Given the description of an element on the screen output the (x, y) to click on. 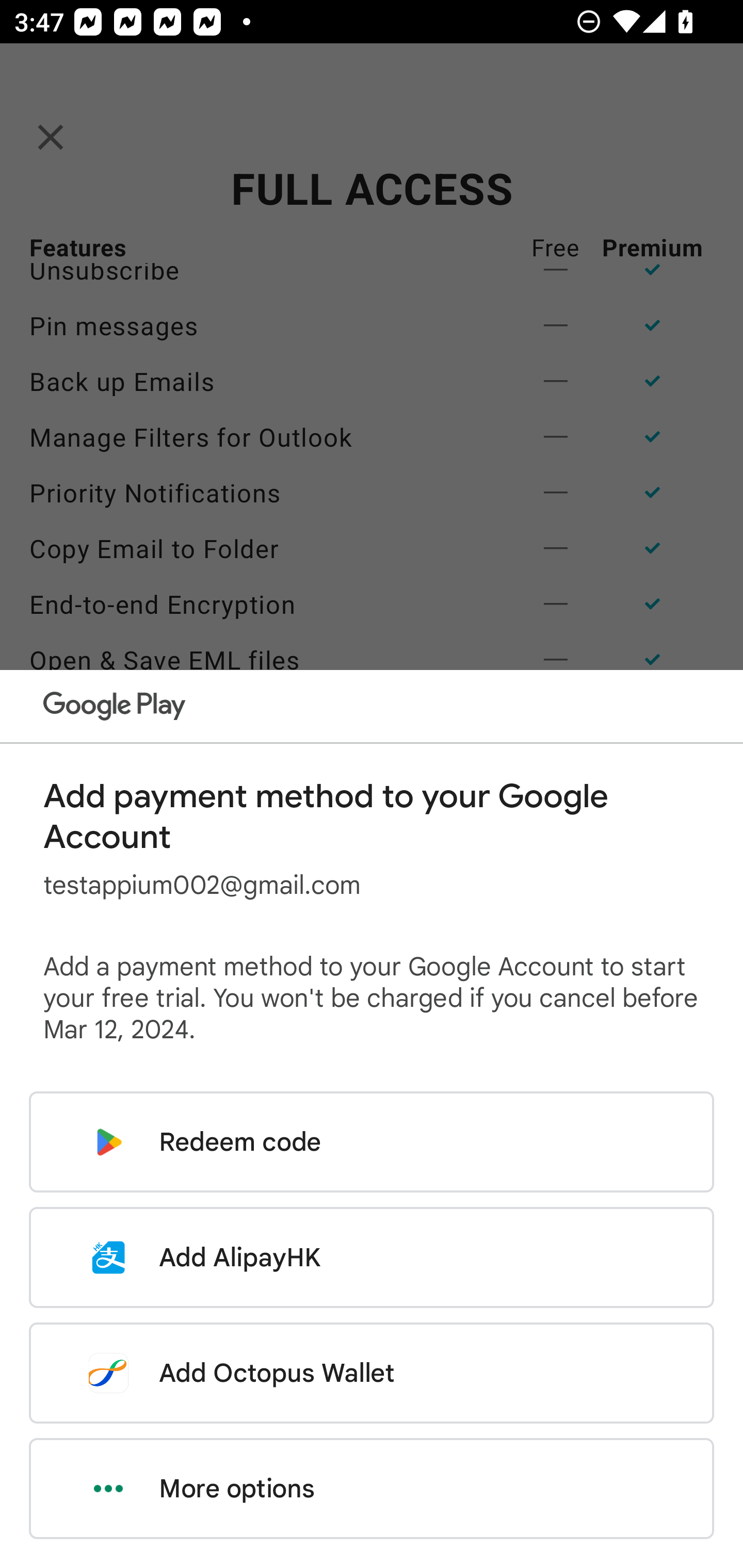
Redeem code (371, 1142)
Add AlipayHK (371, 1257)
Add Octopus Wallet (371, 1372)
More options (371, 1488)
